Given the description of an element on the screen output the (x, y) to click on. 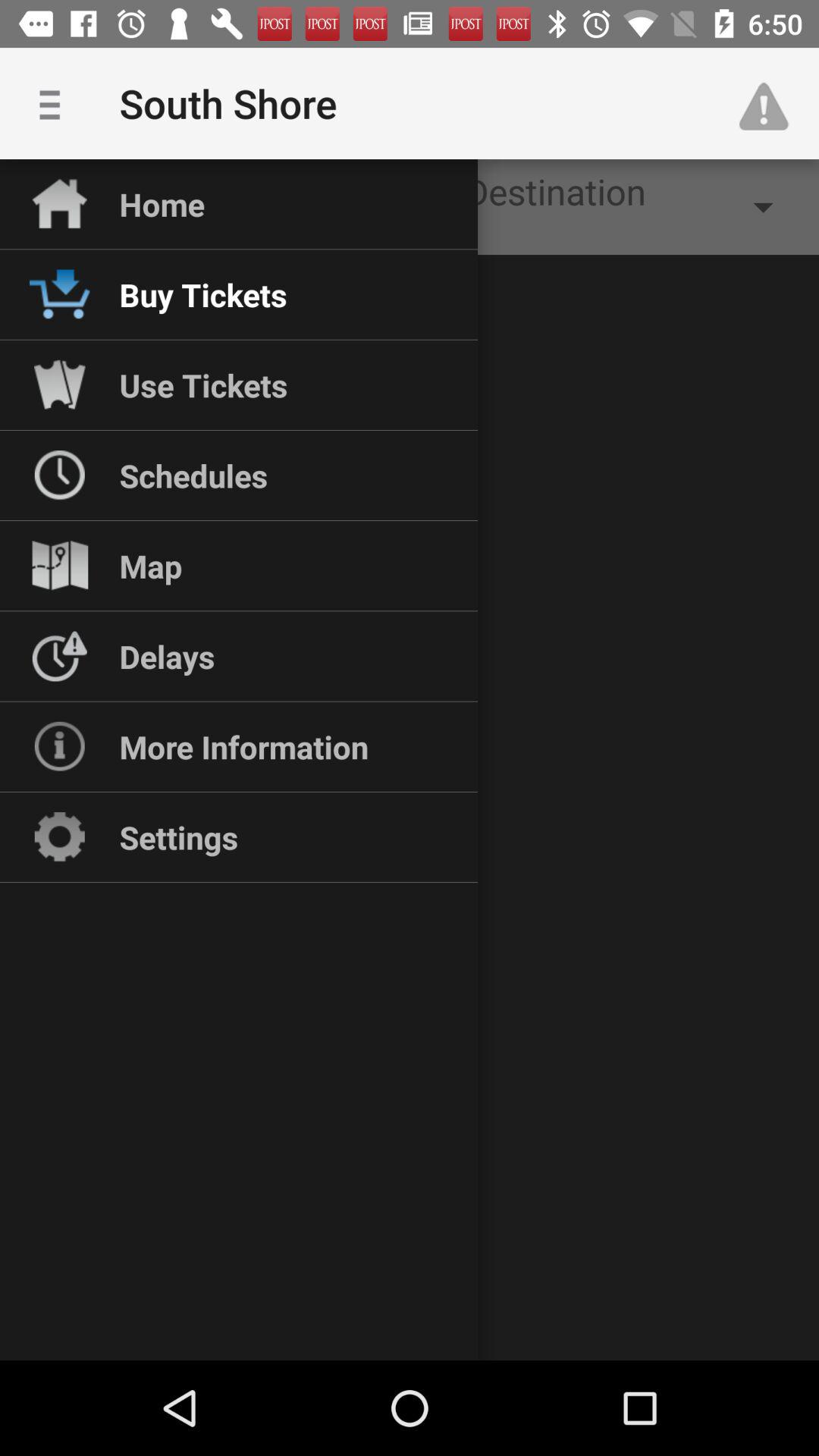
click on destination (638, 207)
